Given the description of an element on the screen output the (x, y) to click on. 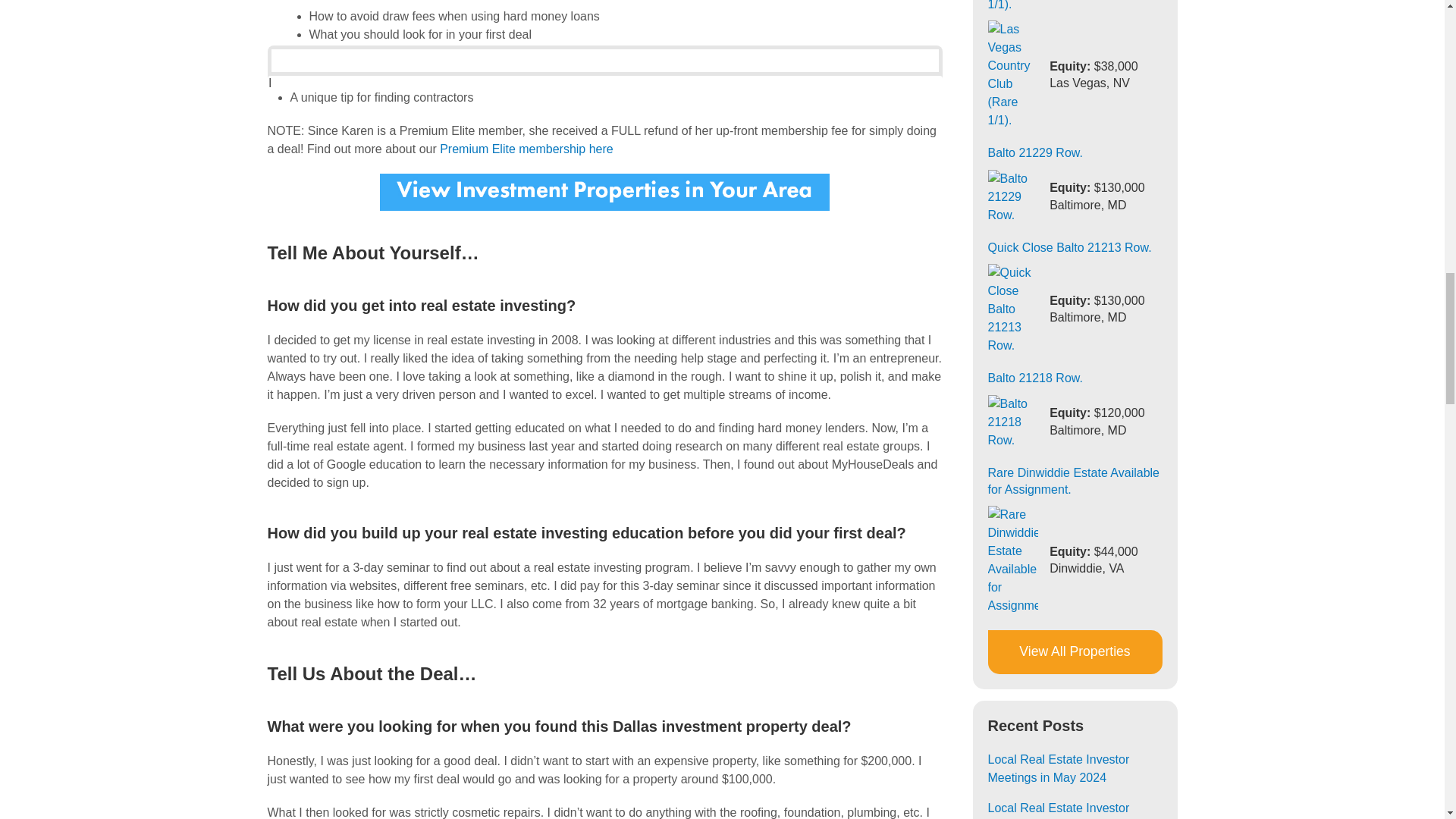
Premium Elite membership here (524, 148)
Play (281, 22)
